Given the description of an element on the screen output the (x, y) to click on. 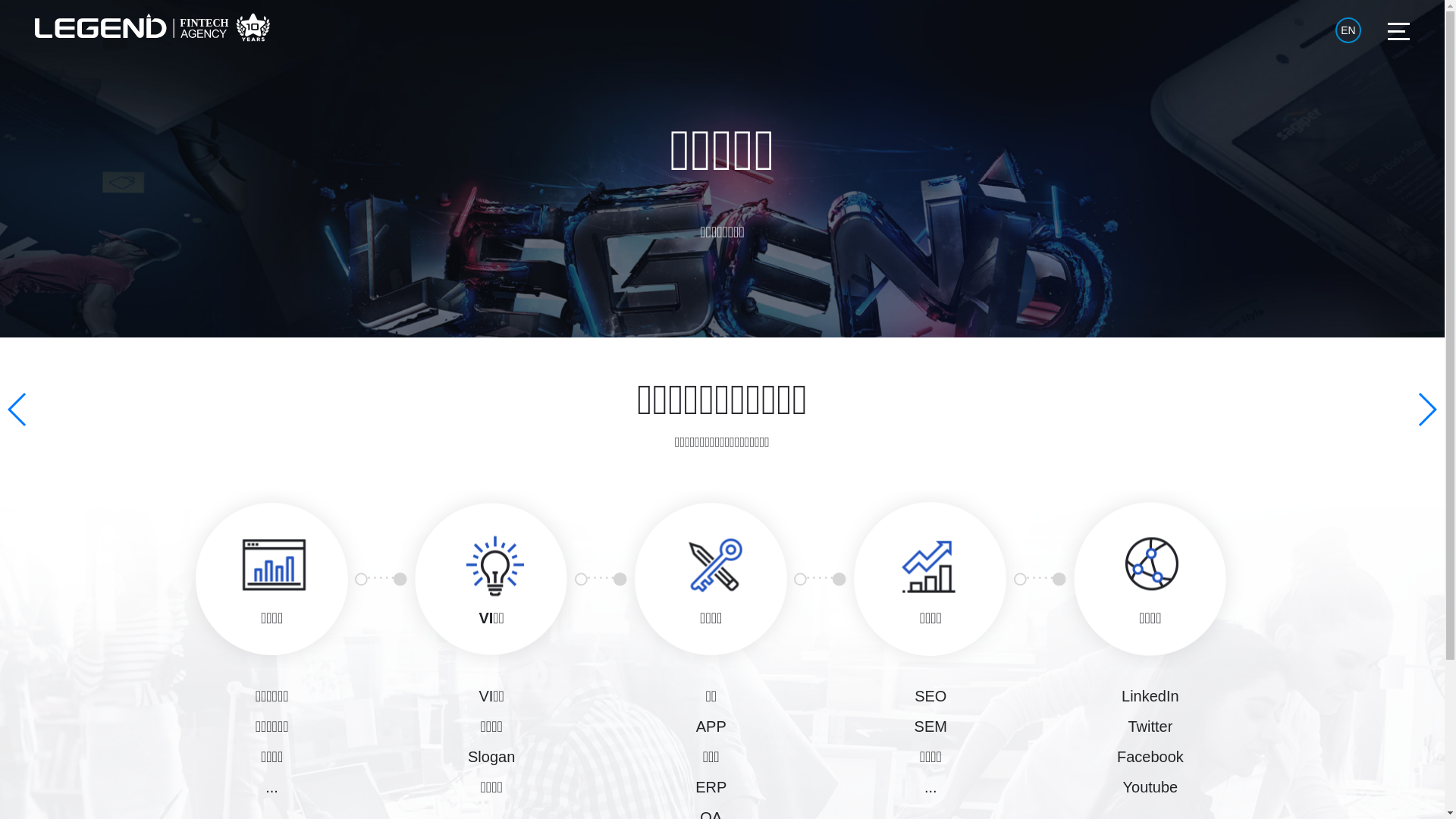
EN Element type: text (1348, 30)
FINTECH Element type: text (151, 27)
